Given the description of an element on the screen output the (x, y) to click on. 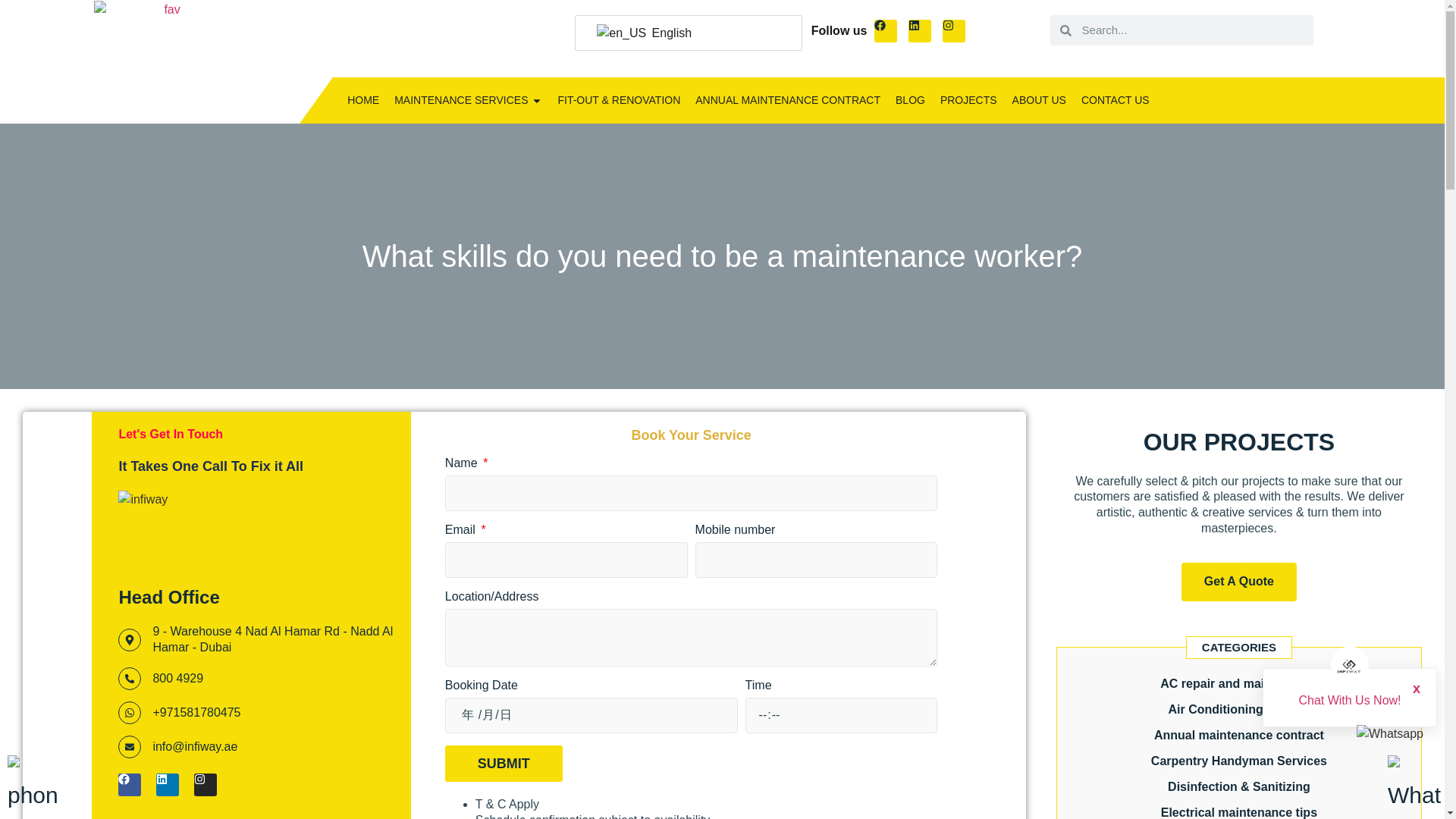
English (685, 32)
English (685, 32)
English (621, 33)
logo.png (166, 61)
